Given the description of an element on the screen output the (x, y) to click on. 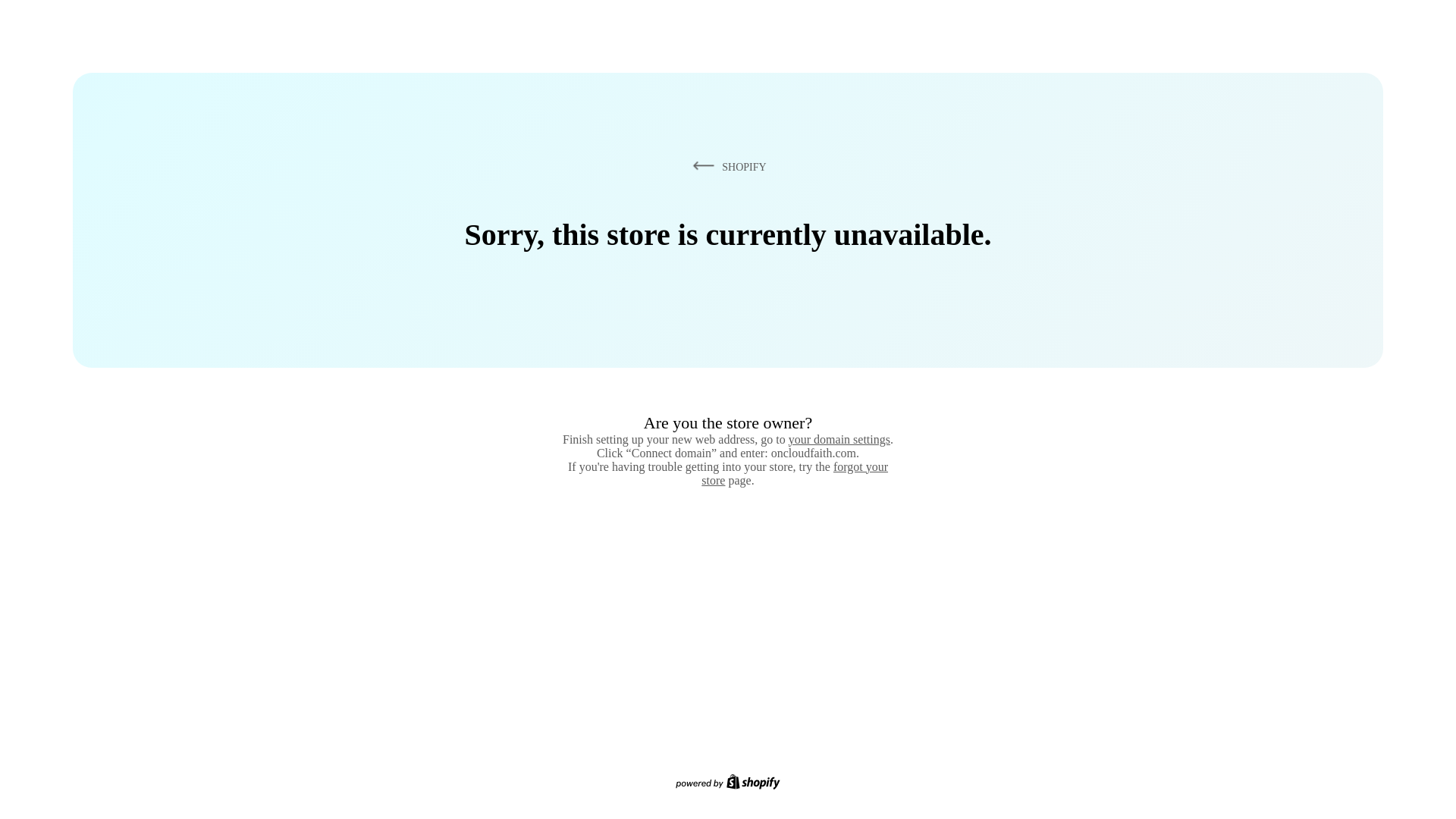
SHOPIFY (726, 166)
your domain settings (839, 439)
forgot your store (794, 473)
